Given the description of an element on the screen output the (x, y) to click on. 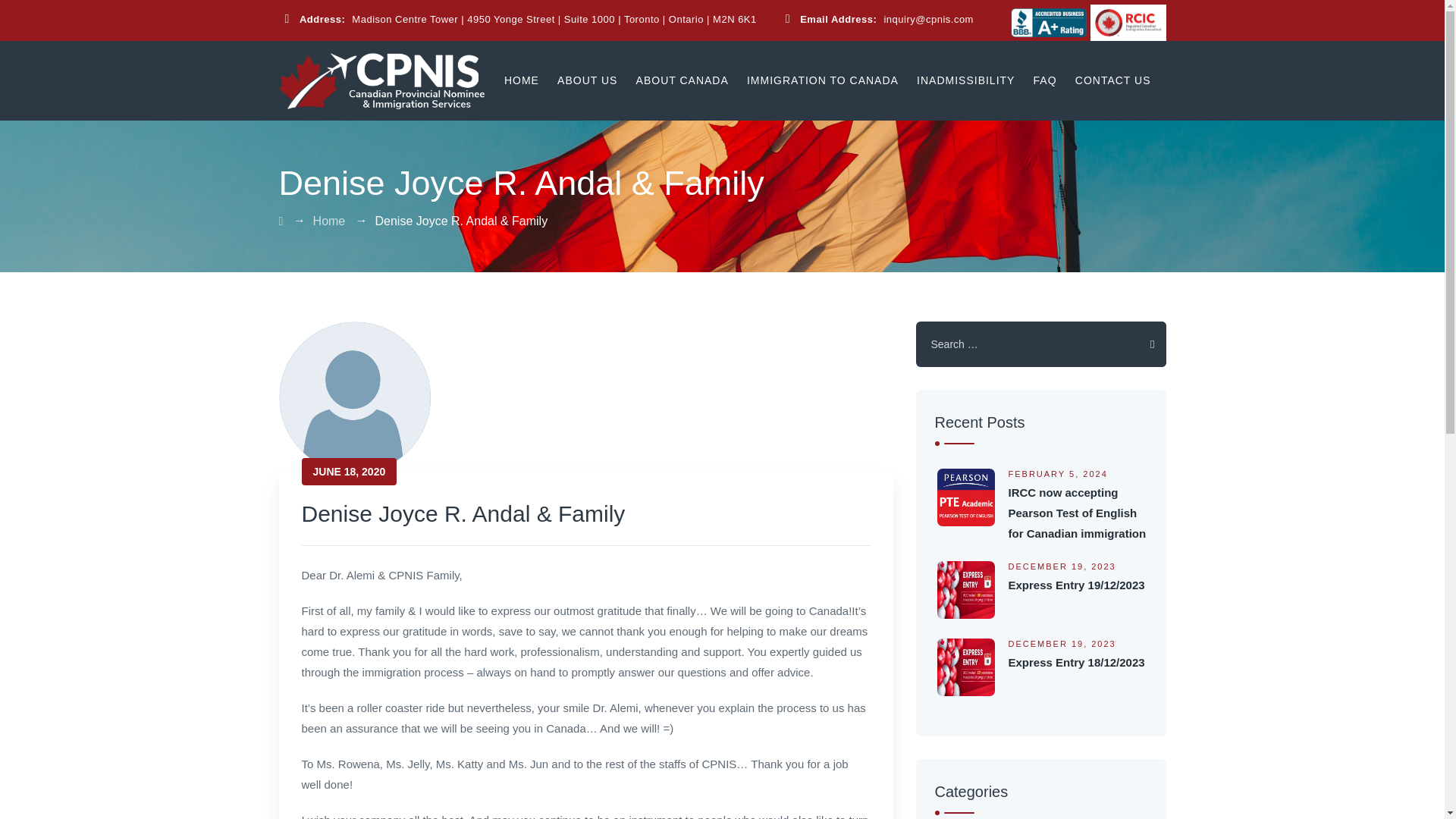
IMMIGRATION TO CANADA (822, 80)
CONTACT US (1113, 80)
ABOUT CANADA (682, 80)
Go to the Home Testimonial Group archives. (329, 220)
INADMISSIBILITY (965, 80)
Search (1142, 343)
Search (1142, 343)
Home (329, 220)
Search (1142, 343)
